Given the description of an element on the screen output the (x, y) to click on. 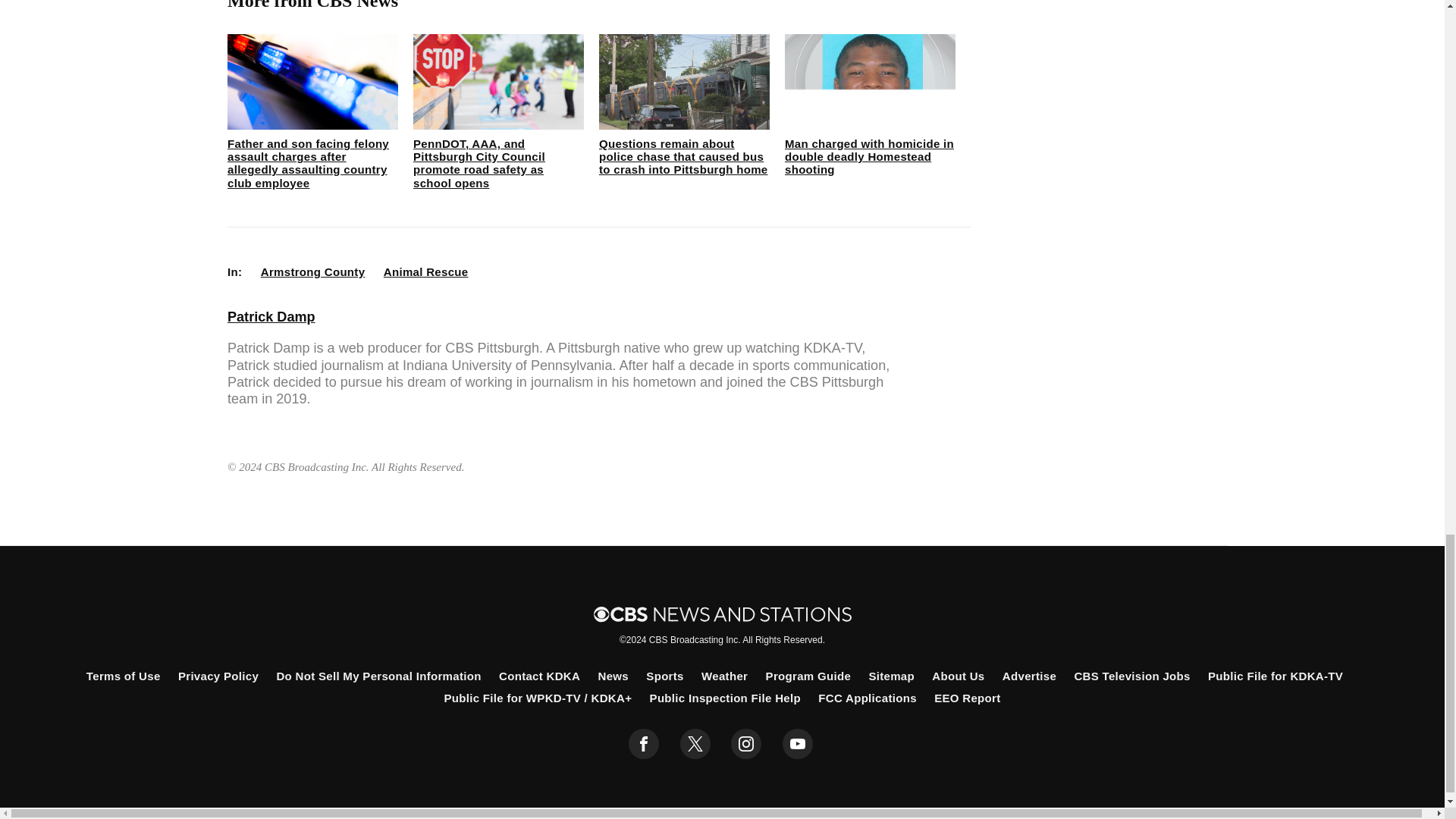
instagram (745, 743)
twitter (694, 743)
facebook (643, 743)
youtube (797, 743)
